Given the description of an element on the screen output the (x, y) to click on. 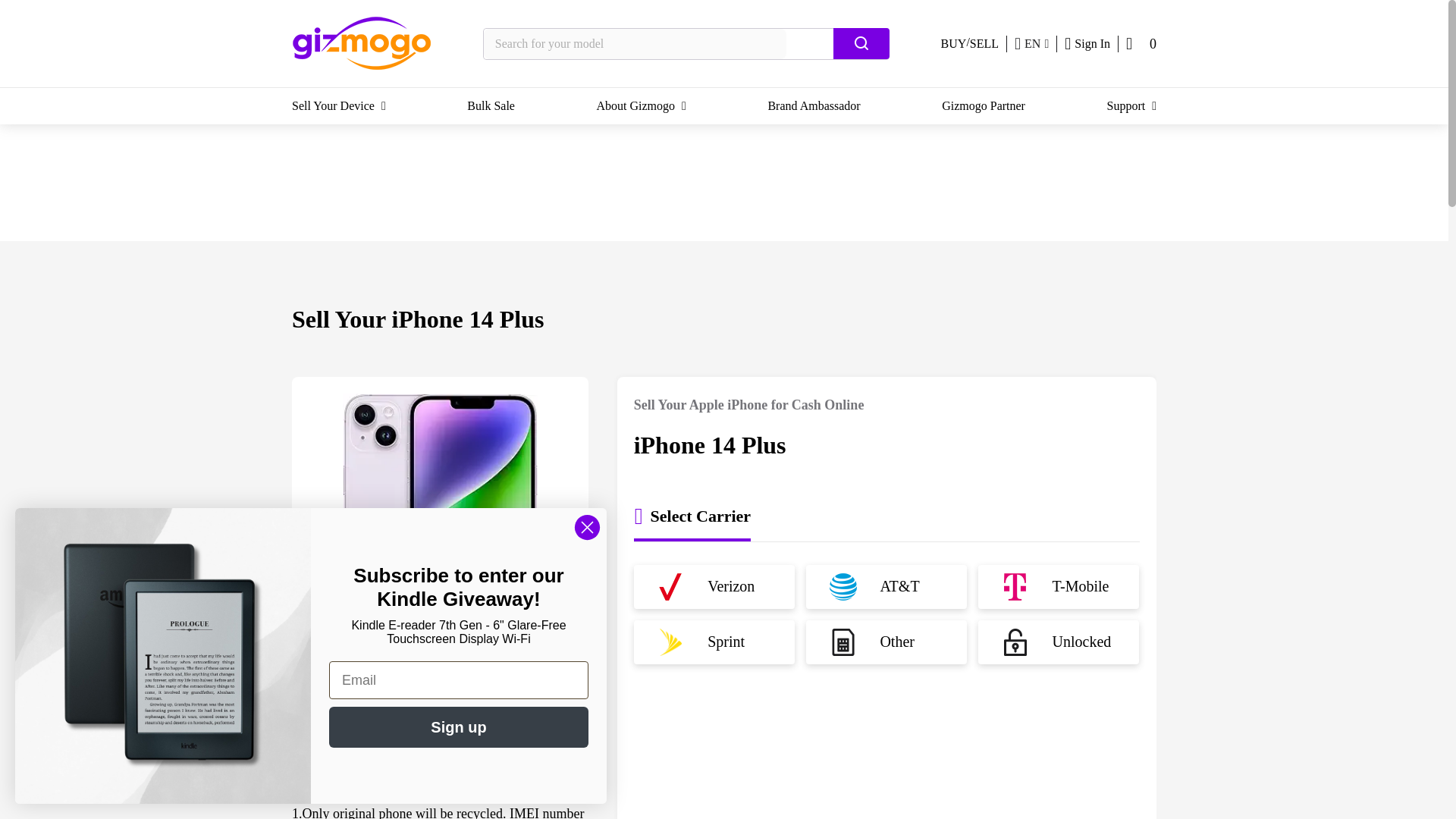
Excellent (440, 701)
Close dialog 1 (586, 527)
Bulk Sale (491, 105)
Gizmogo Partner (983, 105)
Brand Ambassador (813, 105)
